Given the description of an element on the screen output the (x, y) to click on. 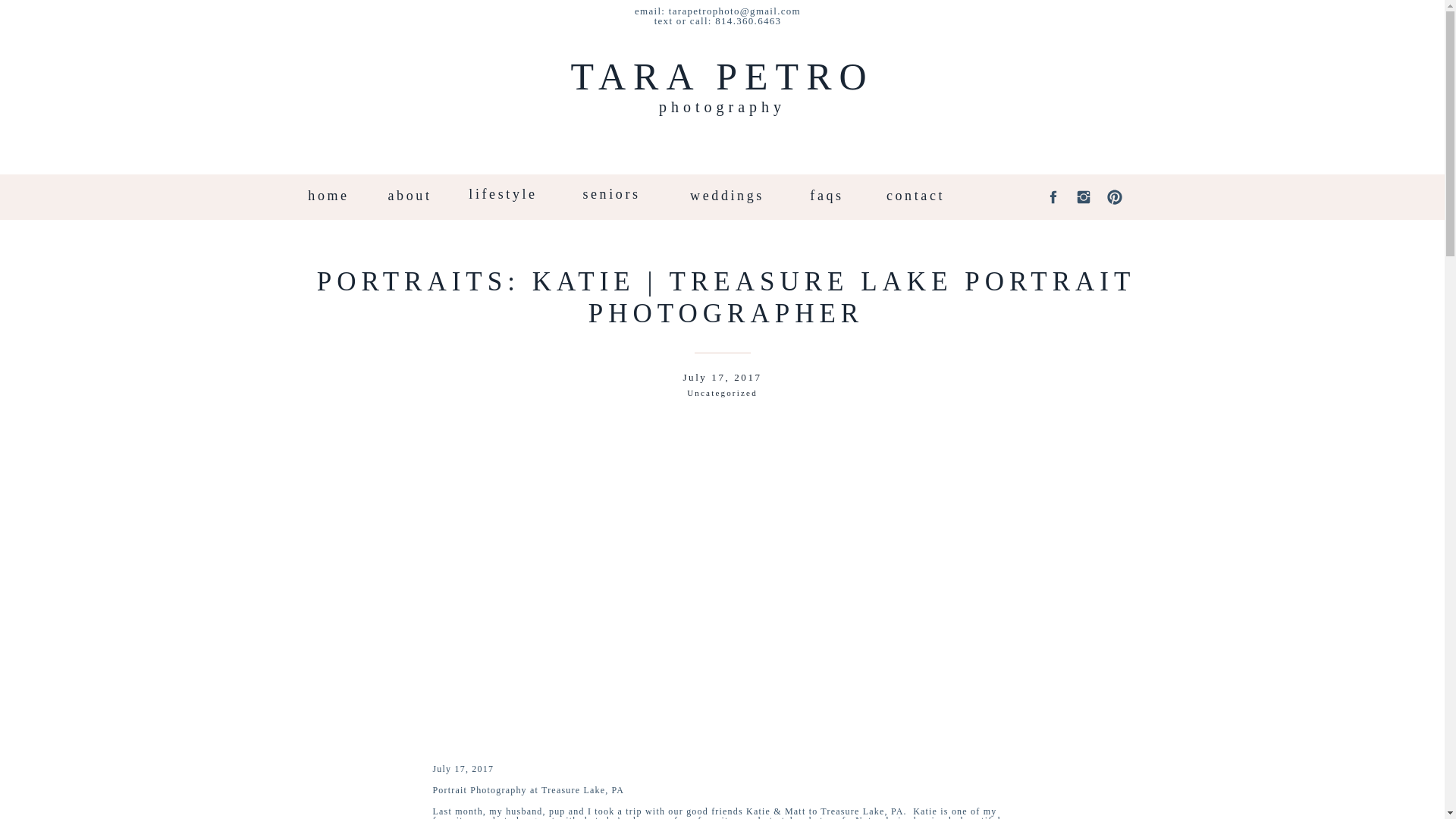
weddings (726, 196)
faqs (826, 196)
Uncategorized (722, 392)
home (328, 196)
seniors (611, 195)
contact (915, 196)
about (408, 196)
lifestyle (501, 195)
